Given the description of an element on the screen output the (x, y) to click on. 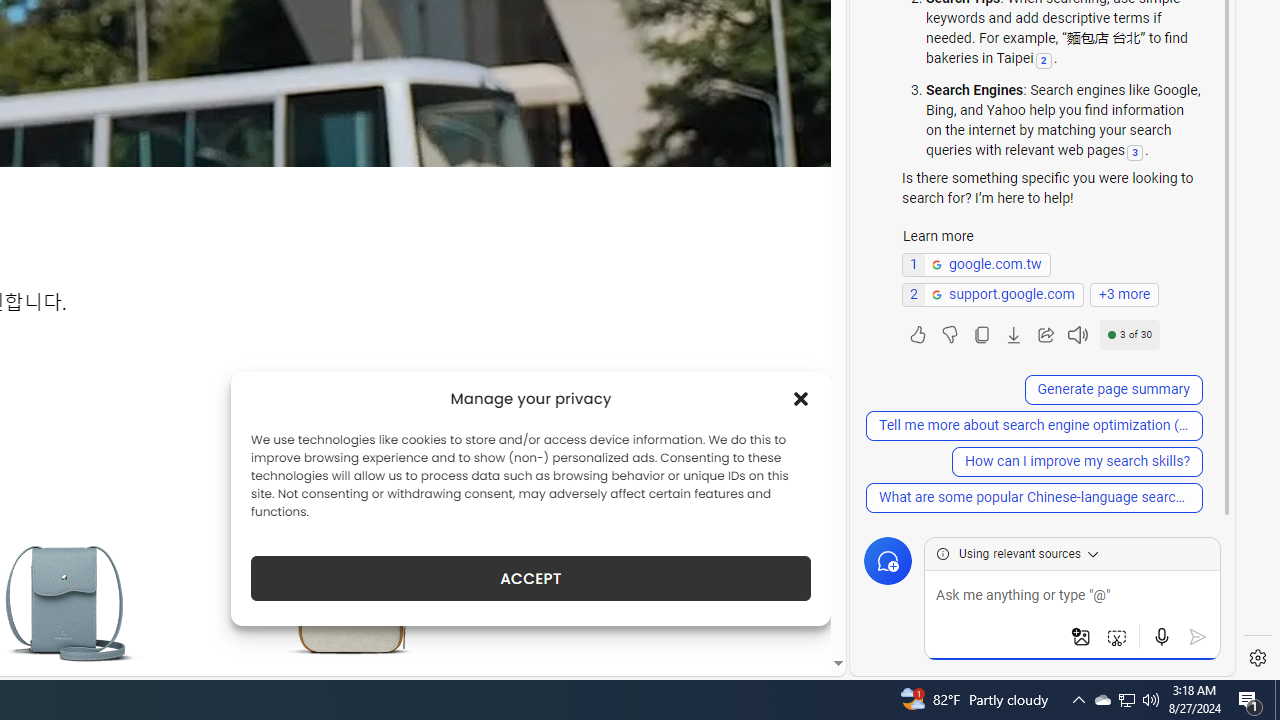
ACCEPT (530, 578)
Class: cmplz-close (801, 398)
